Given the description of an element on the screen output the (x, y) to click on. 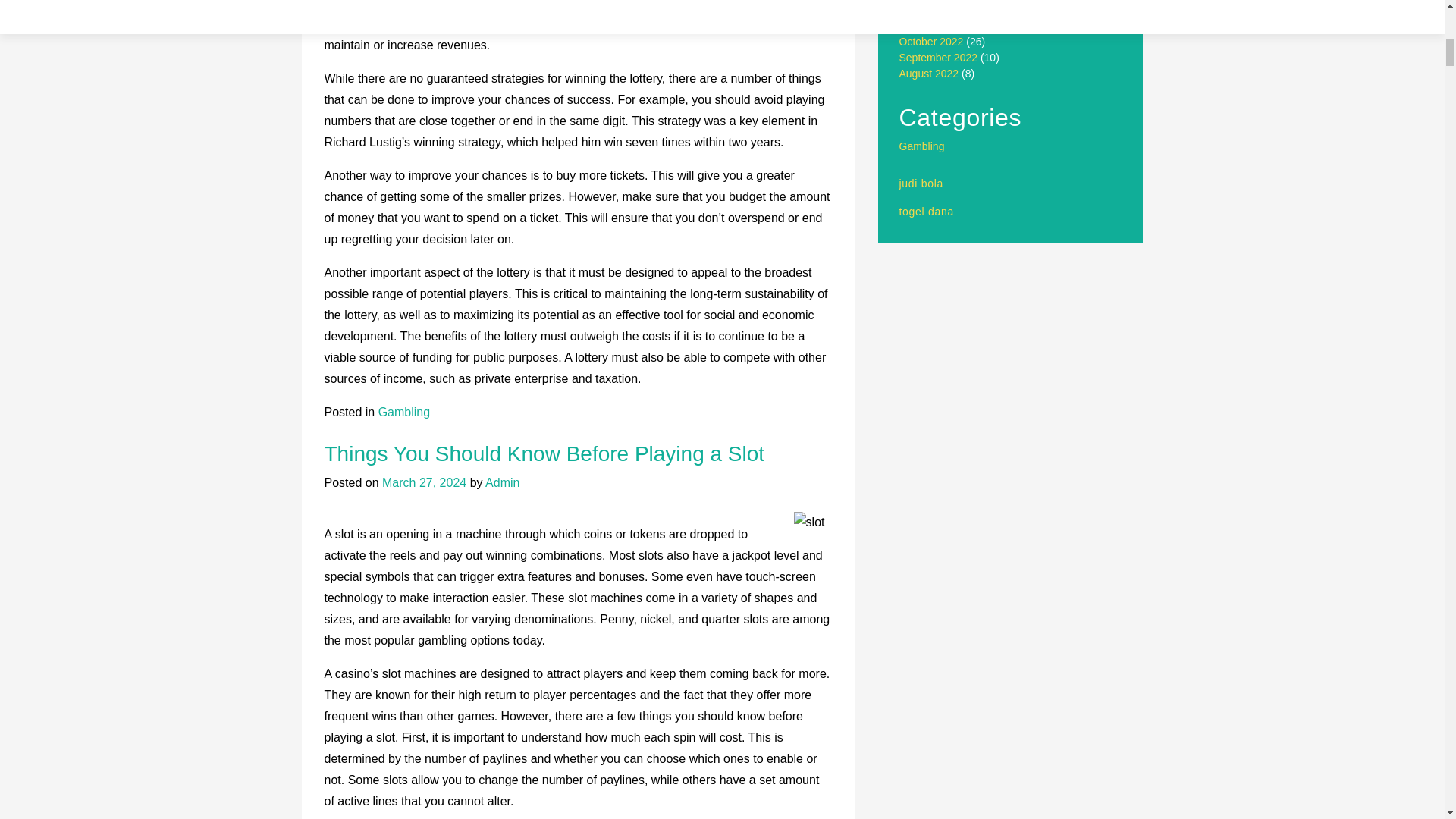
Gambling (403, 411)
March 27, 2024 (423, 481)
Admin (501, 481)
Things You Should Know Before Playing a Slot (544, 454)
